Given the description of an element on the screen output the (x, y) to click on. 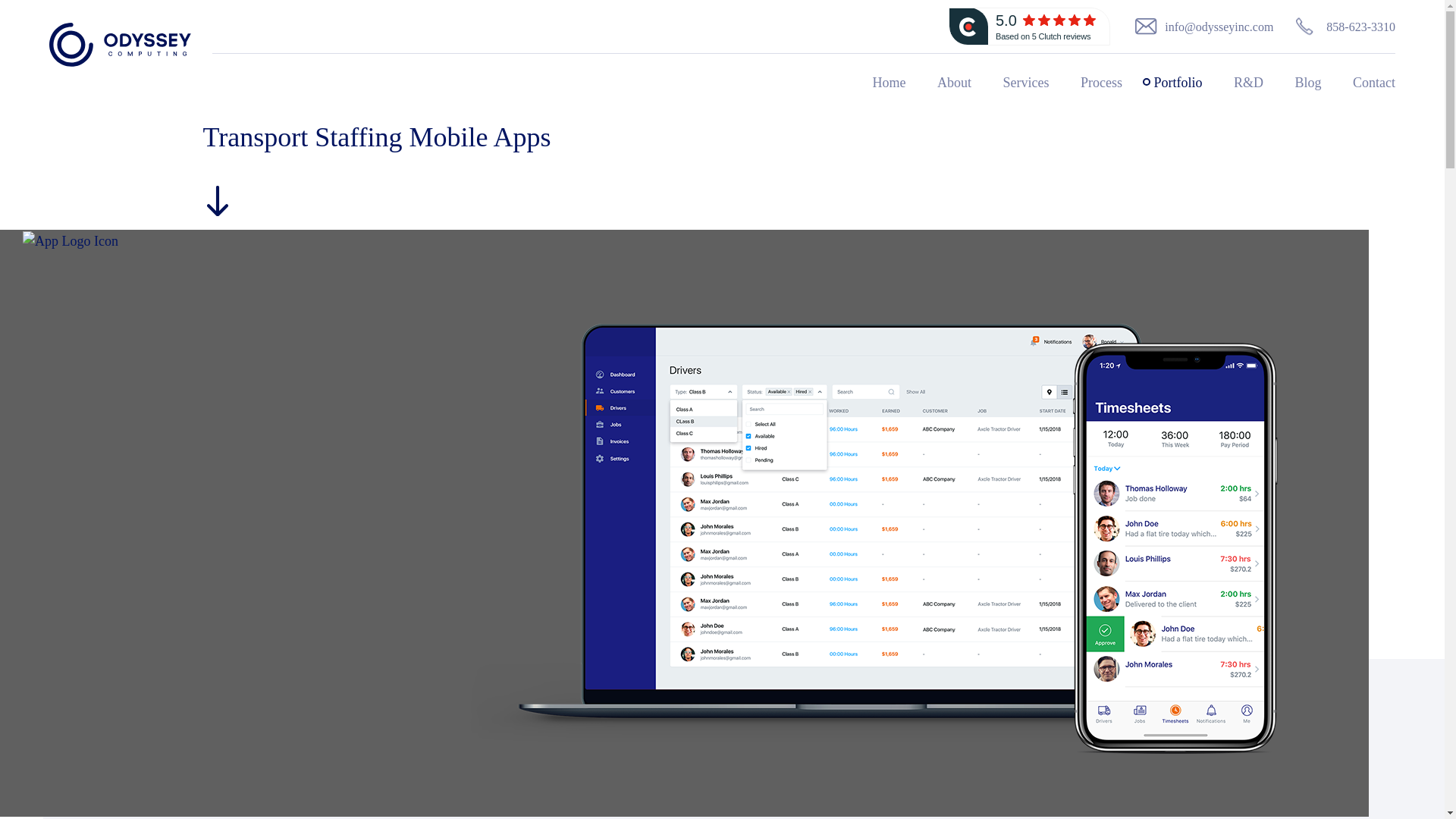
Services (1025, 83)
Portfolio (1176, 83)
About (954, 83)
Process (1101, 83)
Blog (1307, 83)
Odyssey Computing, Inc. Clutch Review Widget 14 (1030, 26)
Contact (1366, 83)
Home (888, 83)
858-623-3310 (1333, 26)
